Given the description of an element on the screen output the (x, y) to click on. 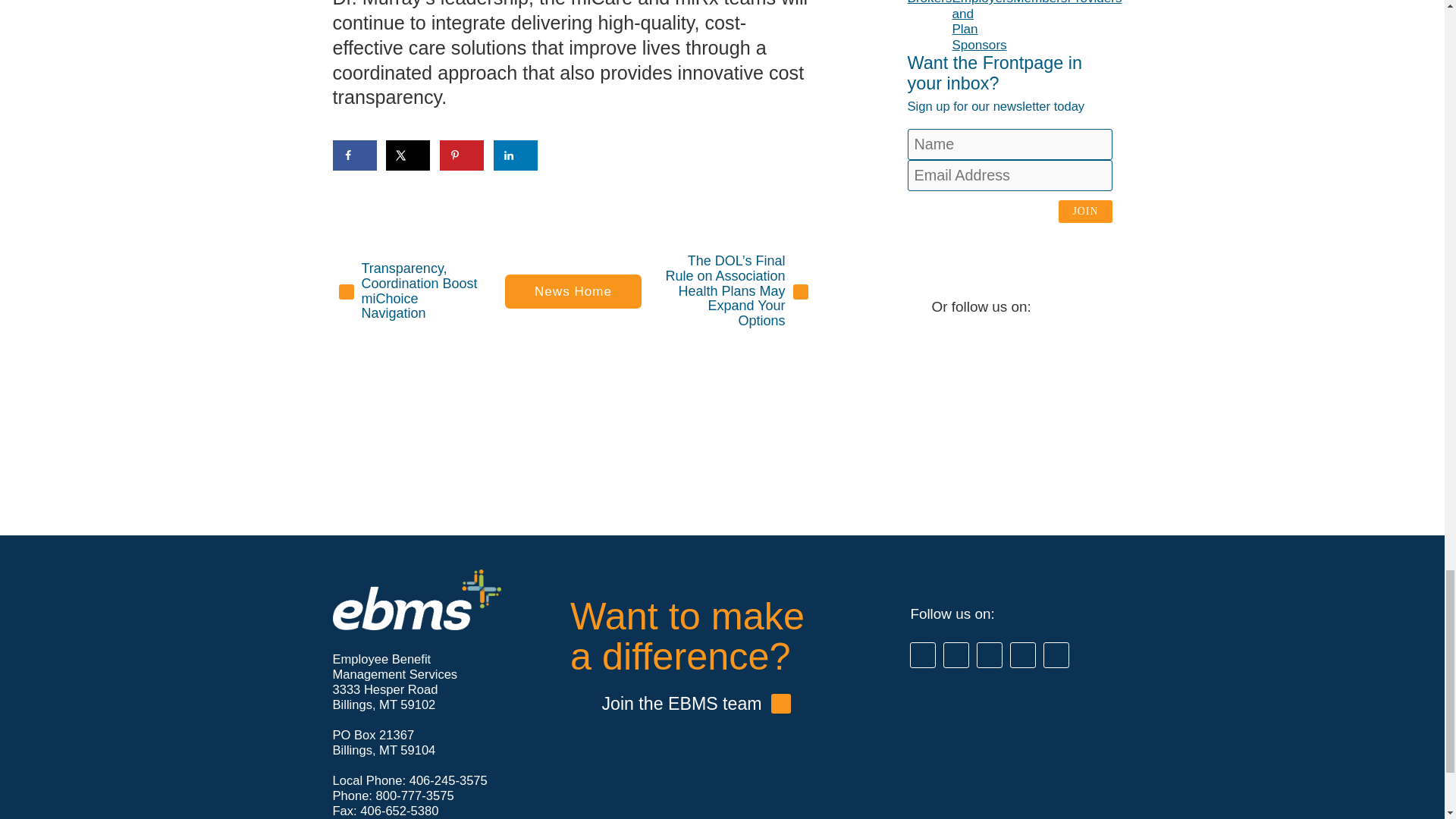
Share on LinkedIn (515, 155)
Join (1085, 210)
ebms (415, 599)
Share on Facebook (353, 155)
Share on X (407, 155)
Save to Pinterest (461, 155)
